Given the description of an element on the screen output the (x, y) to click on. 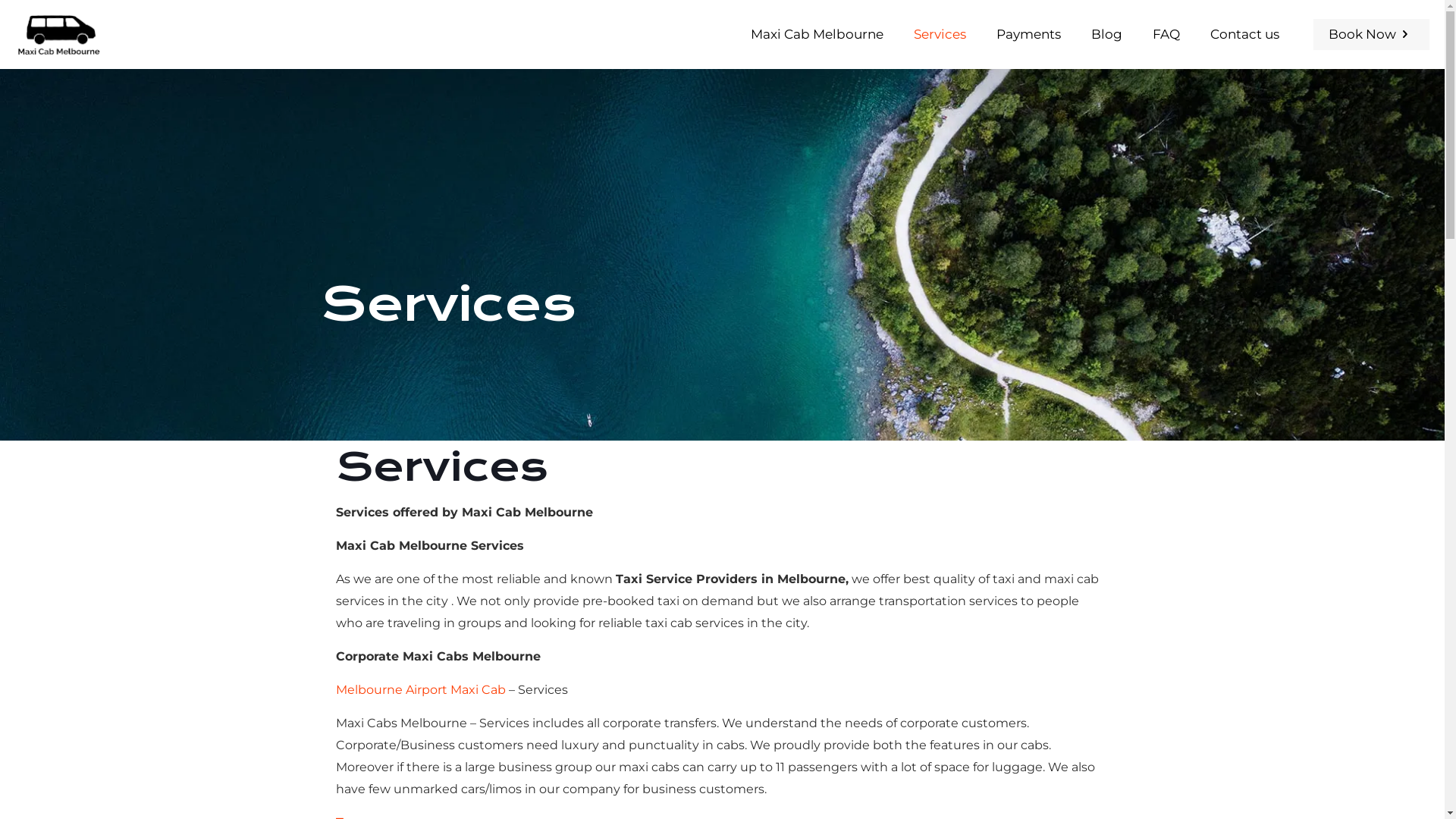
FAQ Element type: text (1166, 34)
Payments Element type: text (1028, 34)
Maxi Cab Melbourne Element type: text (816, 34)
Maxi Cab Melbourne Element type: hover (58, 34)
Book Now Element type: text (1371, 33)
Contact us Element type: text (1244, 34)
Services Element type: text (939, 34)
Melbourne Airport Maxi Cab Element type: text (420, 689)
Blog Element type: text (1106, 34)
